Given the description of an element on the screen output the (x, y) to click on. 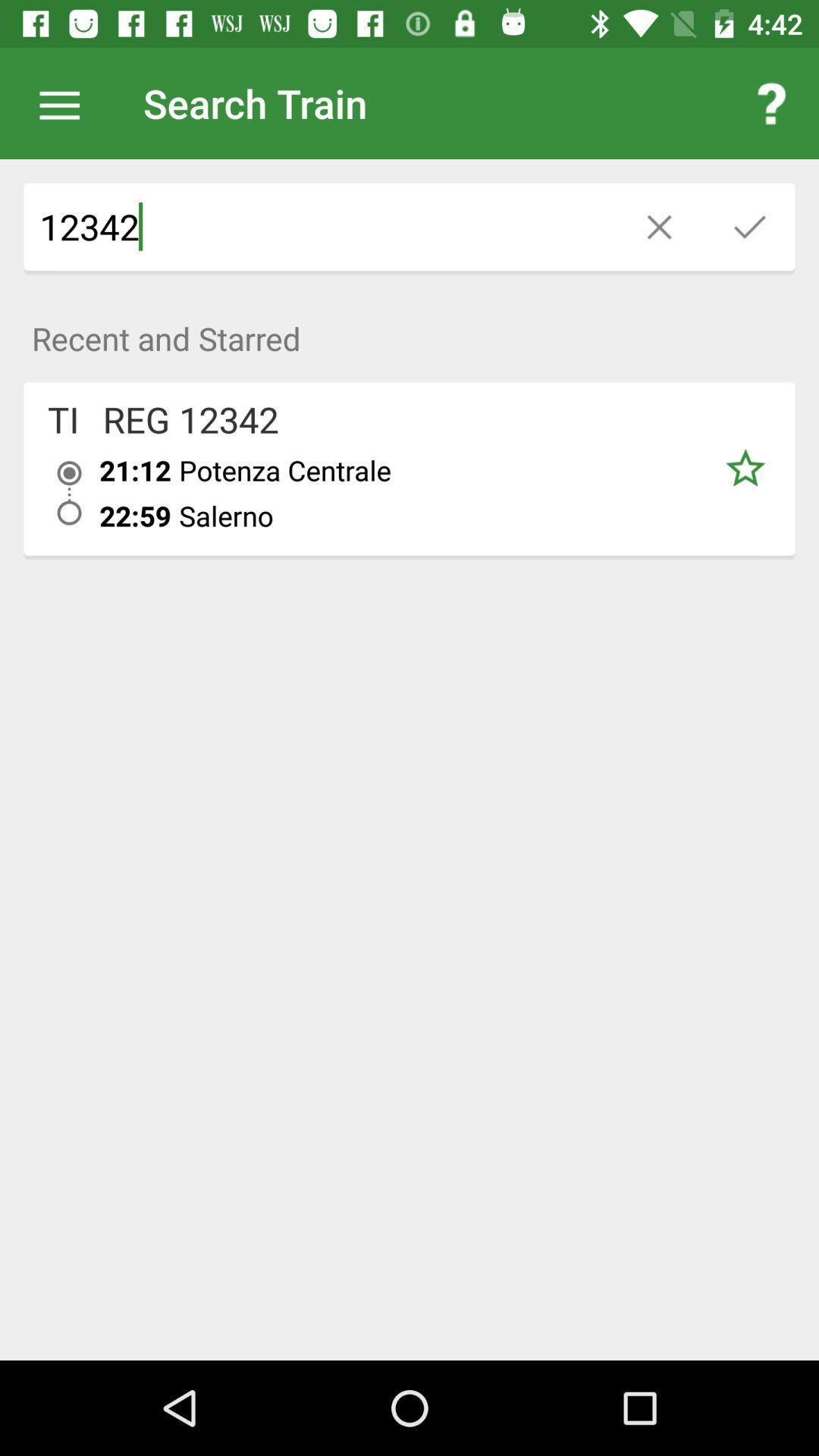
swipe until the salerno icon (437, 515)
